Given the description of an element on the screen output the (x, y) to click on. 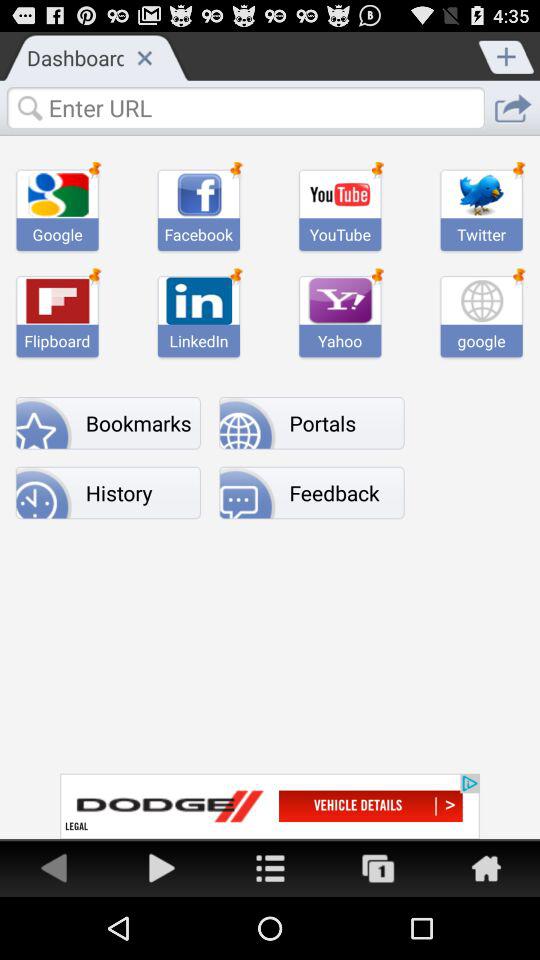
copy the info (378, 867)
